Given the description of an element on the screen output the (x, y) to click on. 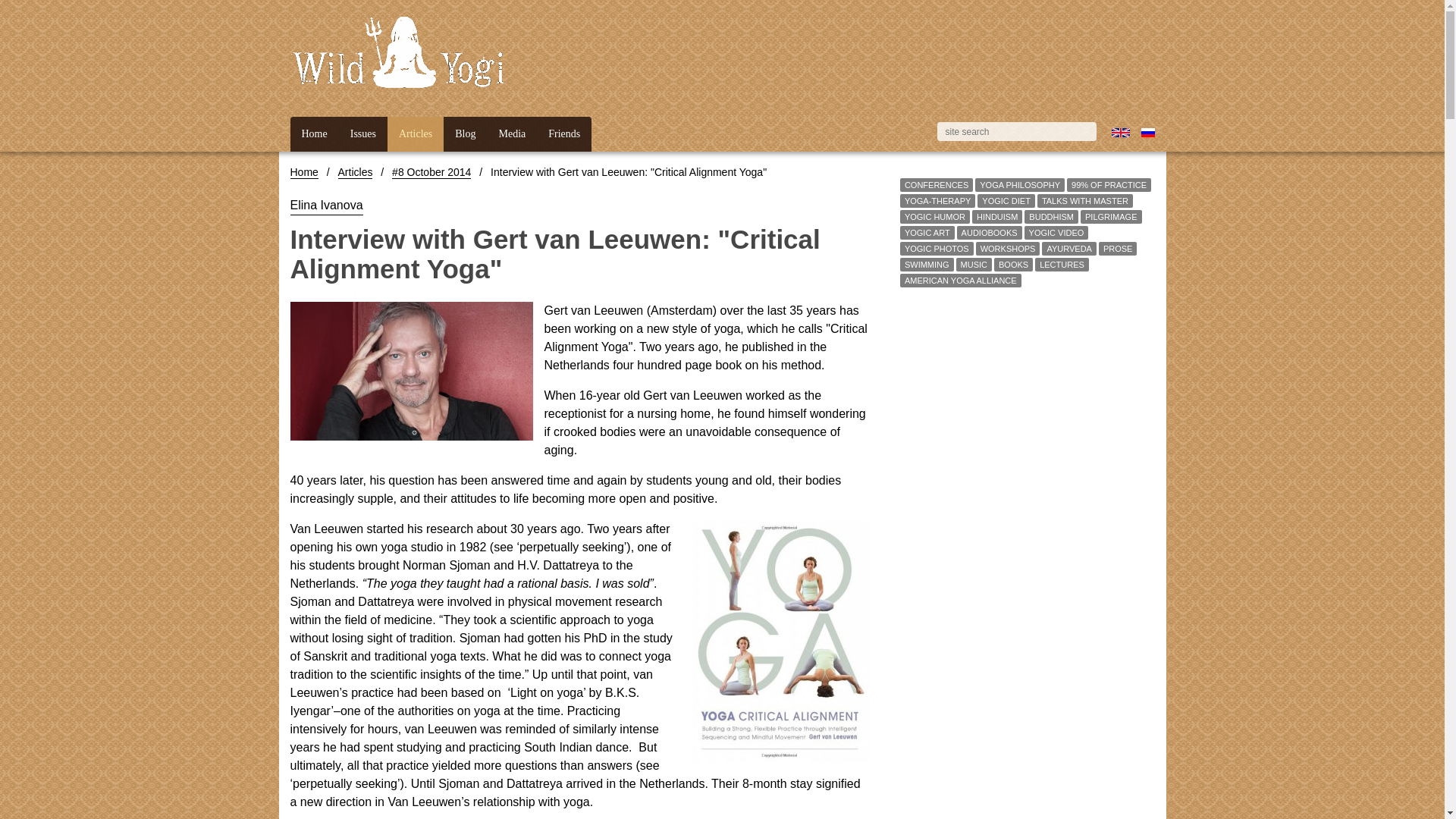
WORKSHOPS (1007, 248)
PILGRIMAGE (1110, 216)
Home (303, 172)
Friends (564, 134)
Media (512, 134)
Articles (354, 172)
YOGIC DIET (1005, 200)
Blog (465, 134)
YOGIC ART (927, 232)
YOGA PHILOSOPHY (1019, 184)
